Given the description of an element on the screen output the (x, y) to click on. 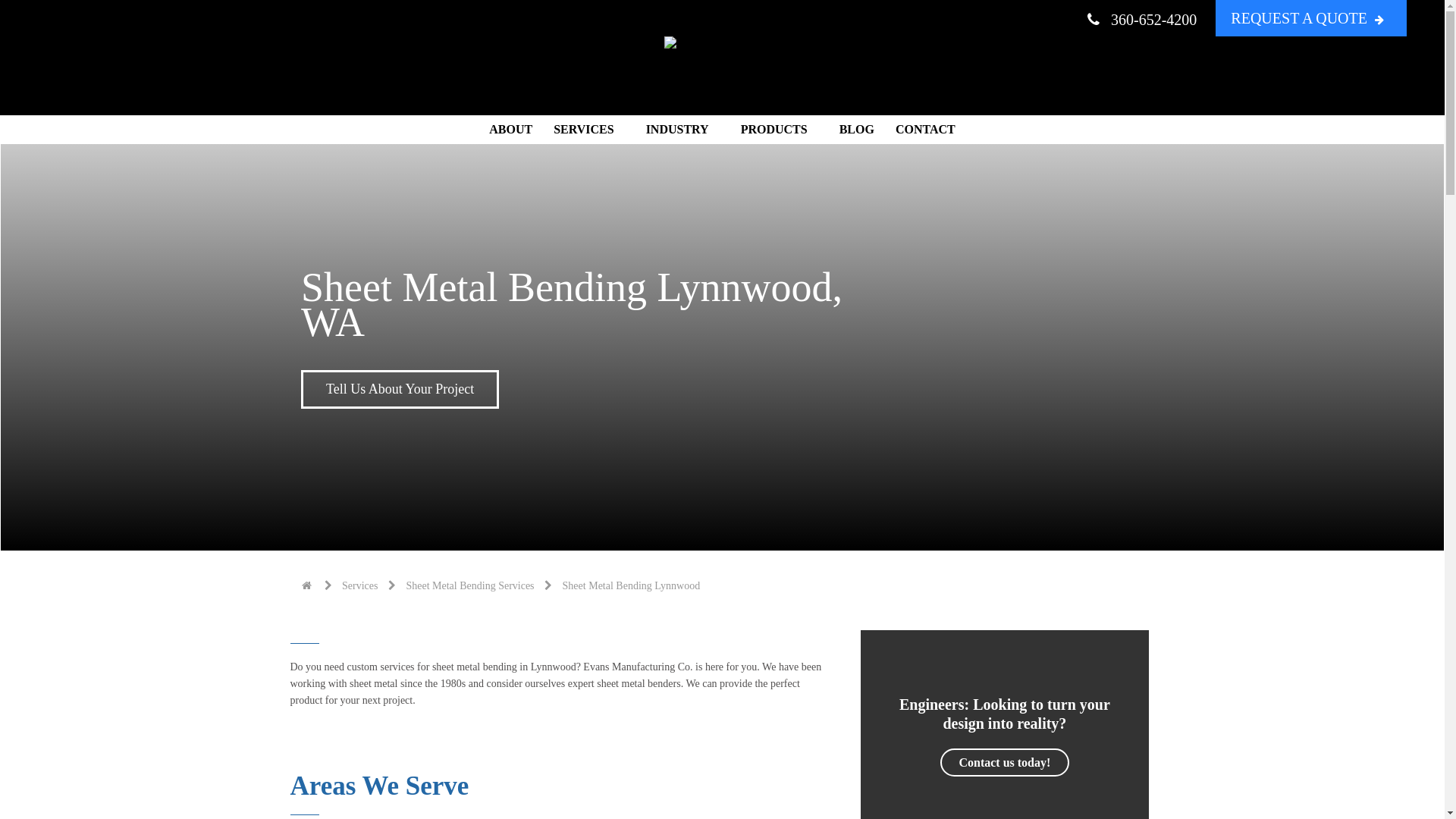
PRODUCTS (779, 129)
REQUEST A QUOTE (1310, 18)
Go to Sheet Metal Bending Services. (470, 585)
INDUSTRY (682, 129)
Sheet Metal Bending Services (470, 585)
Go to Evans Manufacturing Co.. (307, 585)
Tell Us About Your Project (400, 389)
360-652-4200 (1140, 17)
Go to Services. (359, 585)
REQUEST A QUOTE (95, 12)
Services (359, 585)
SERVICES (588, 129)
ABOUT (510, 129)
BLOG (857, 129)
